Given the description of an element on the screen output the (x, y) to click on. 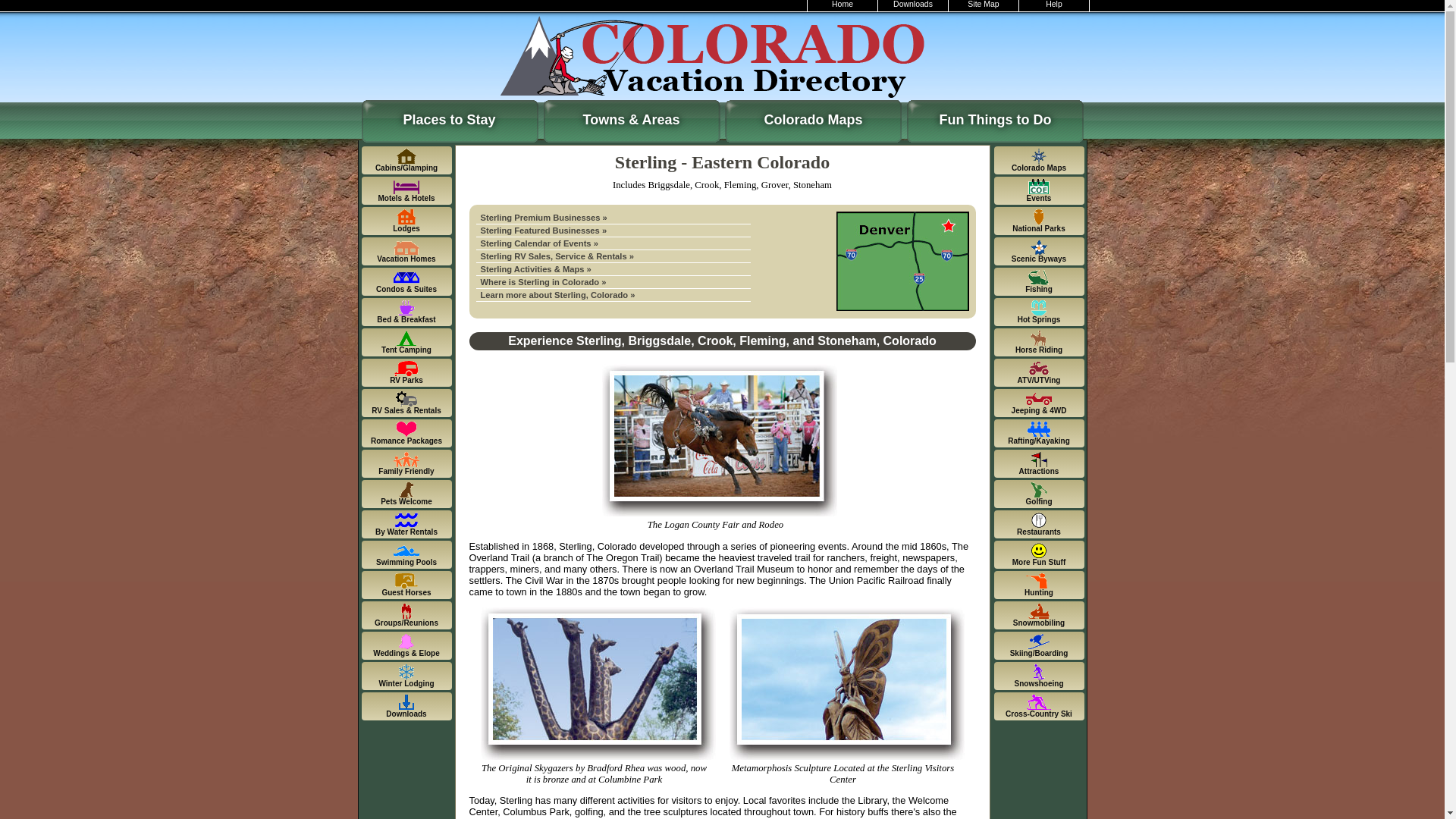
Site Map (984, 5)
Colorado Maps (813, 114)
Sterling Eastern, Colorado - The Colorado Vacation Directory (613, 282)
Home (842, 5)
Help (1054, 5)
Search for Places to Stay in Colorado (449, 114)
Downloads (913, 5)
Fun Things to Do (995, 114)
Sterling, Colorado Events - The Colorado Vacation Directory (613, 243)
Sterling Businesses - The Colorado Vacation Directory (613, 230)
Sterling, Colorado Maps - The Colorado Vacation Directory (613, 269)
Search for Fun Things to Do in Colorado (995, 114)
